Given the description of an element on the screen output the (x, y) to click on. 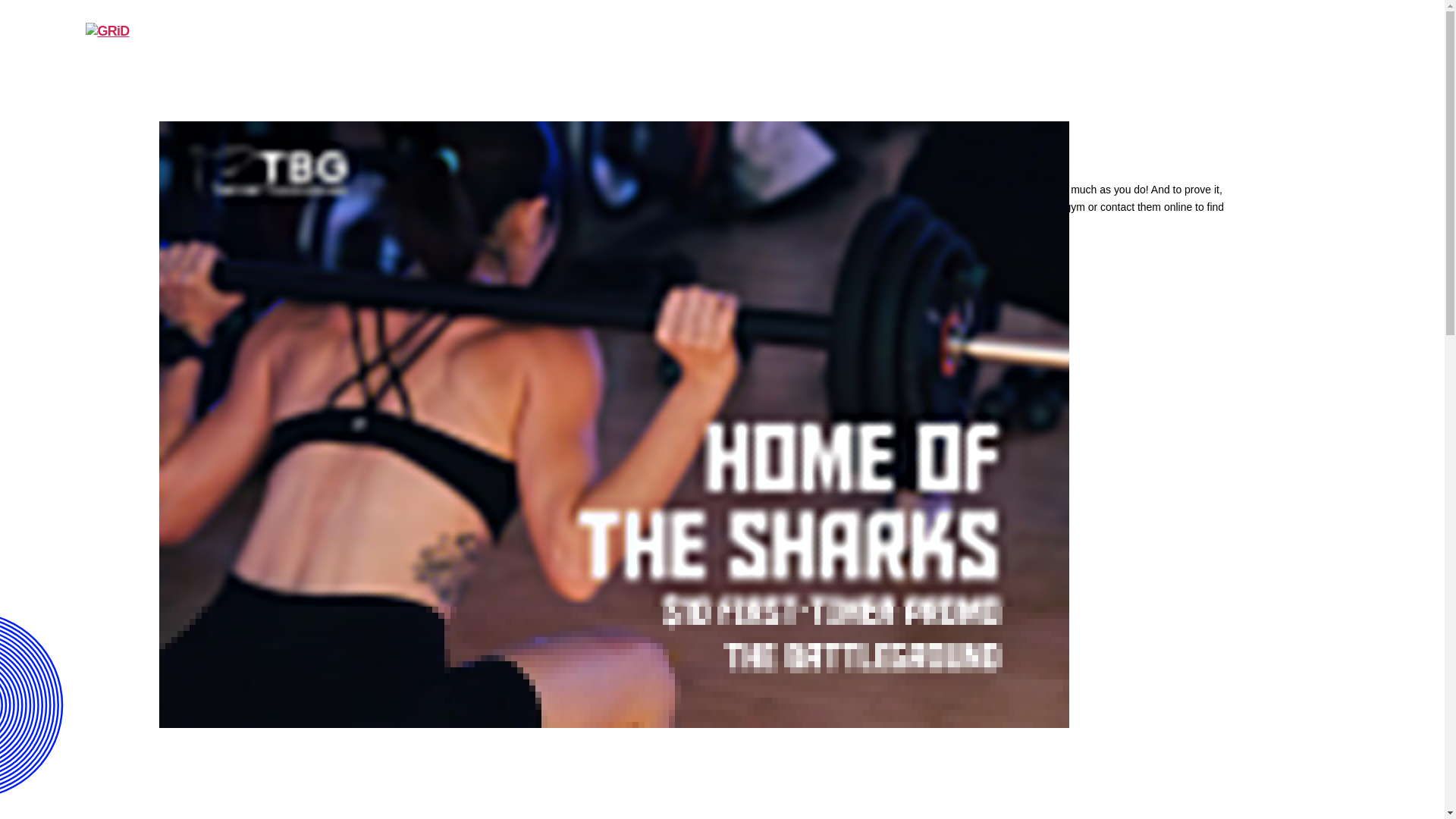
About Us (737, 37)
Contact Us (1257, 37)
Media (1165, 37)
GR.iD Insider (1066, 37)
Directory (839, 37)
